Given the description of an element on the screen output the (x, y) to click on. 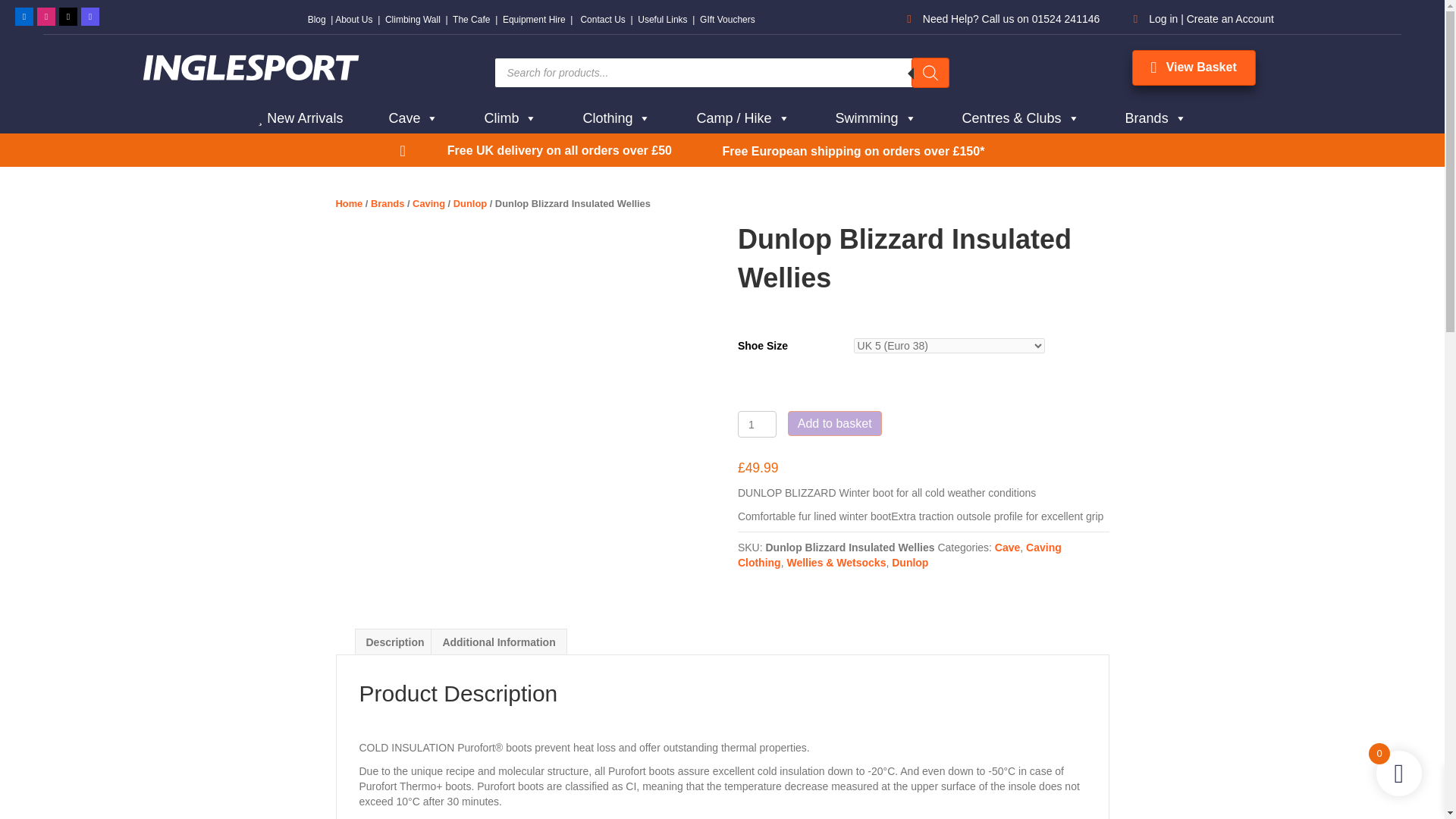
1 (757, 424)
Climbing Wall (413, 19)
About Us (353, 19)
Cave (413, 118)
New Arrivals (299, 118)
Contact Us (601, 19)
Equipment Hire (534, 19)
The Cafe (470, 19)
Need Help? Call us on 01524 241146 (1011, 19)
GIft Vouchers (727, 19)
